Given the description of an element on the screen output the (x, y) to click on. 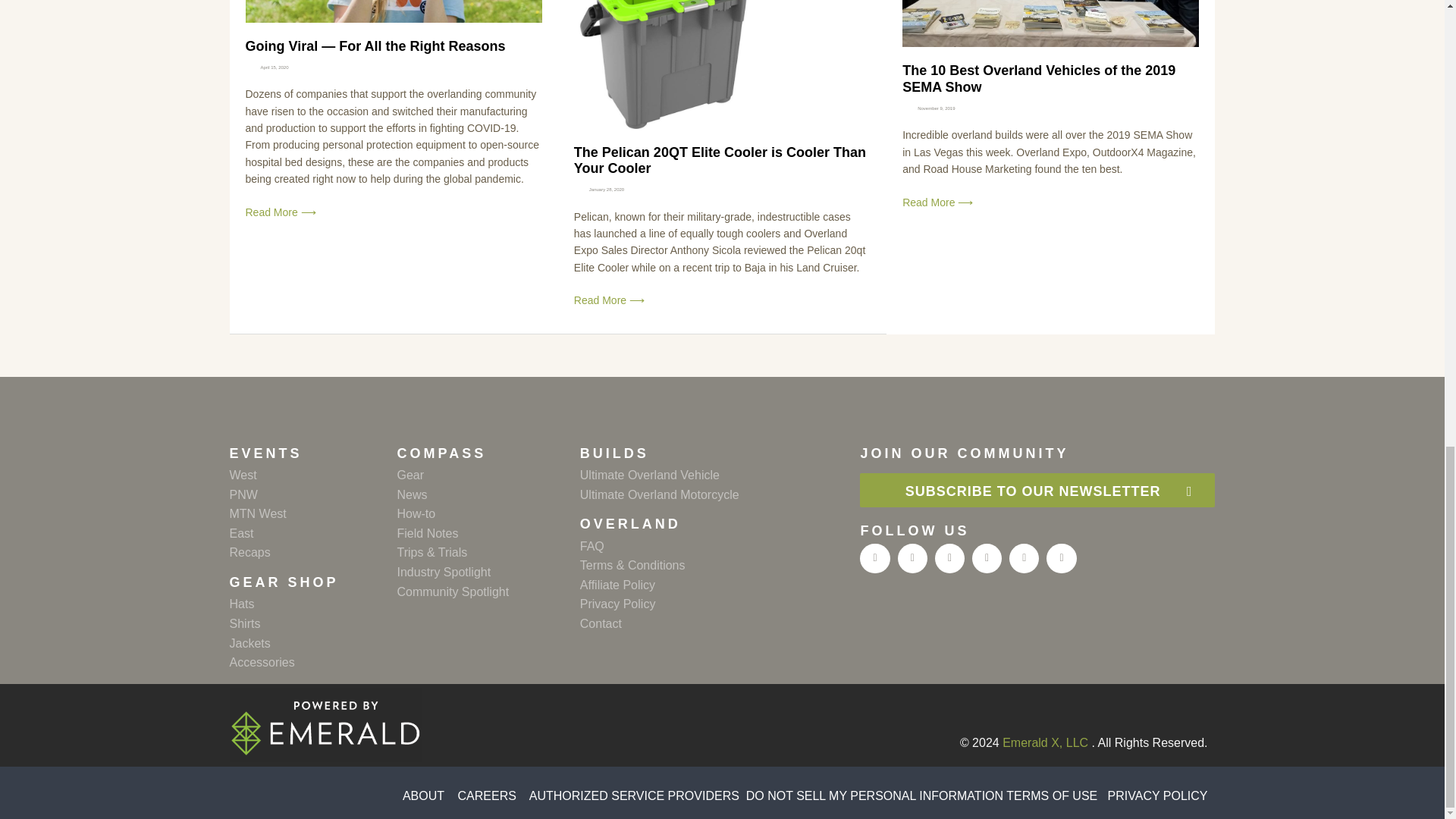
Recaps (312, 552)
The 10 Best Overland Vehicles of the 2019 SEMA Show (1038, 79)
Hats (312, 604)
PNW (312, 495)
MTN West (312, 514)
East (312, 533)
West (312, 475)
The Pelican 20QT Elite Cooler is Cooler Than Your Cooler (719, 160)
